Given the description of an element on the screen output the (x, y) to click on. 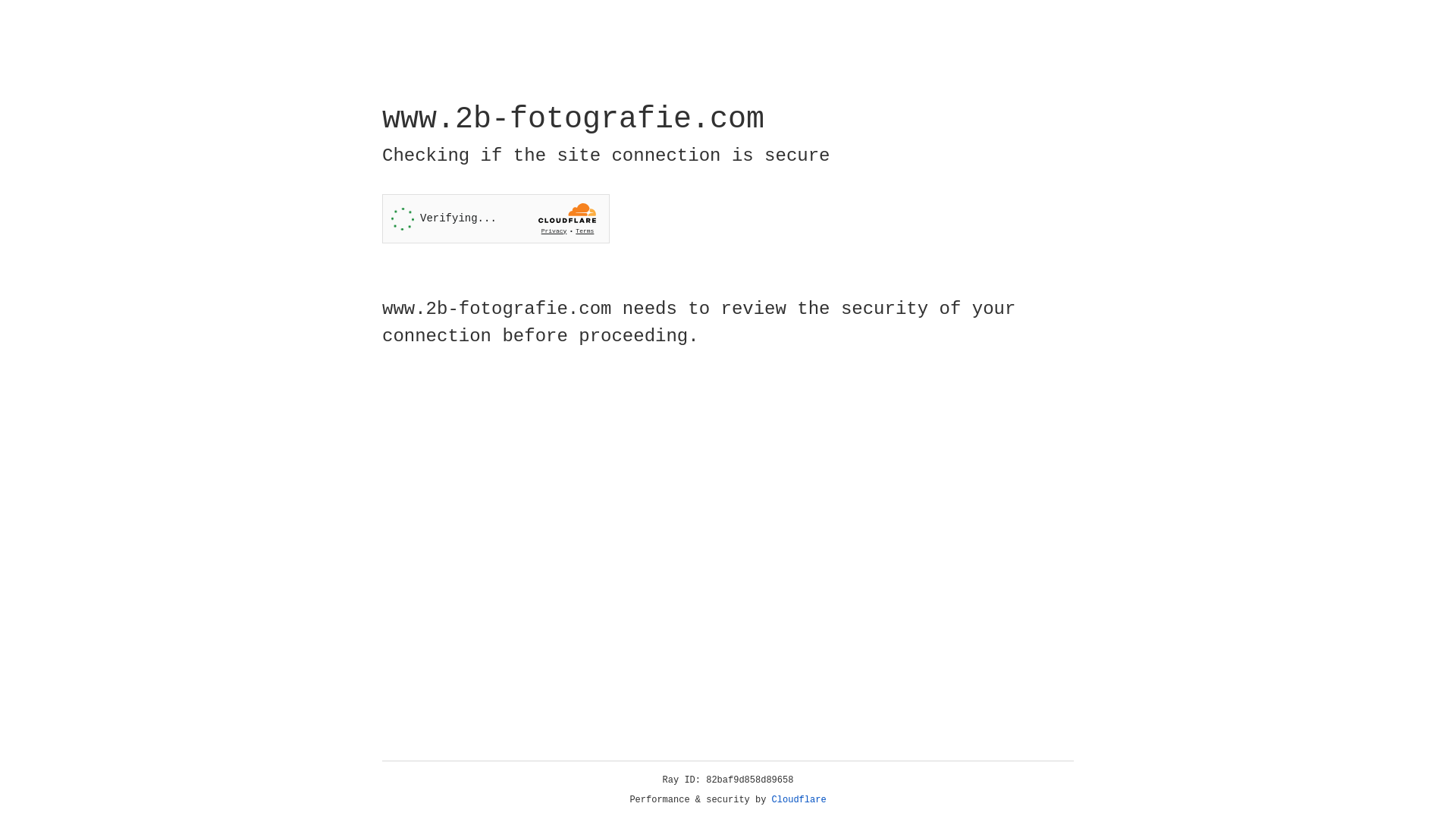
Widget containing a Cloudflare security challenge Element type: hover (495, 218)
Cloudflare Element type: text (798, 799)
